Given the description of an element on the screen output the (x, y) to click on. 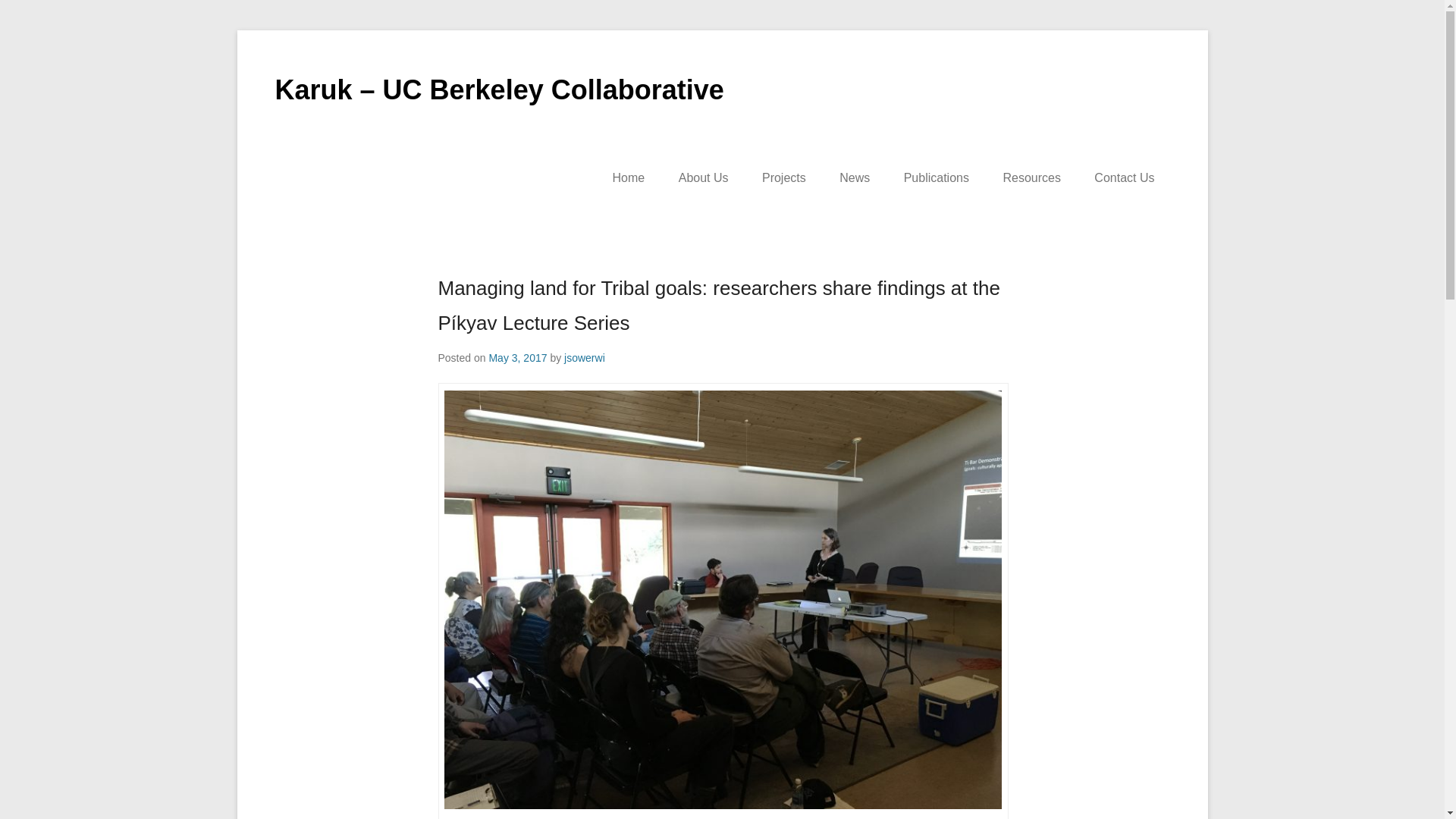
Resources (1031, 177)
News (854, 177)
Publications (936, 177)
5:15 pm (517, 357)
Contact Us (1123, 177)
jsowerwi (584, 357)
Home (628, 177)
About Us (703, 177)
Projects (783, 177)
View all posts by jsowerwi (584, 357)
